Given the description of an element on the screen output the (x, y) to click on. 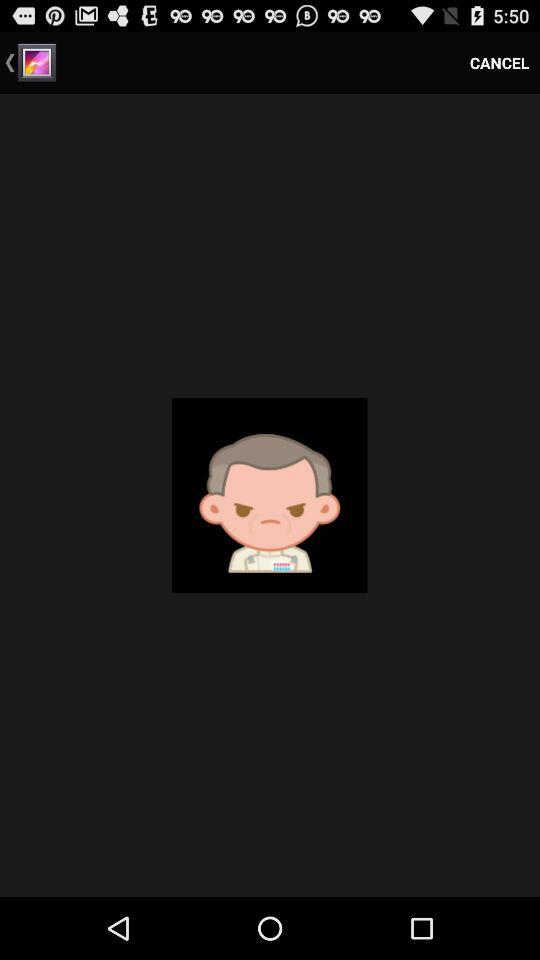
swipe until cancel item (499, 62)
